Given the description of an element on the screen output the (x, y) to click on. 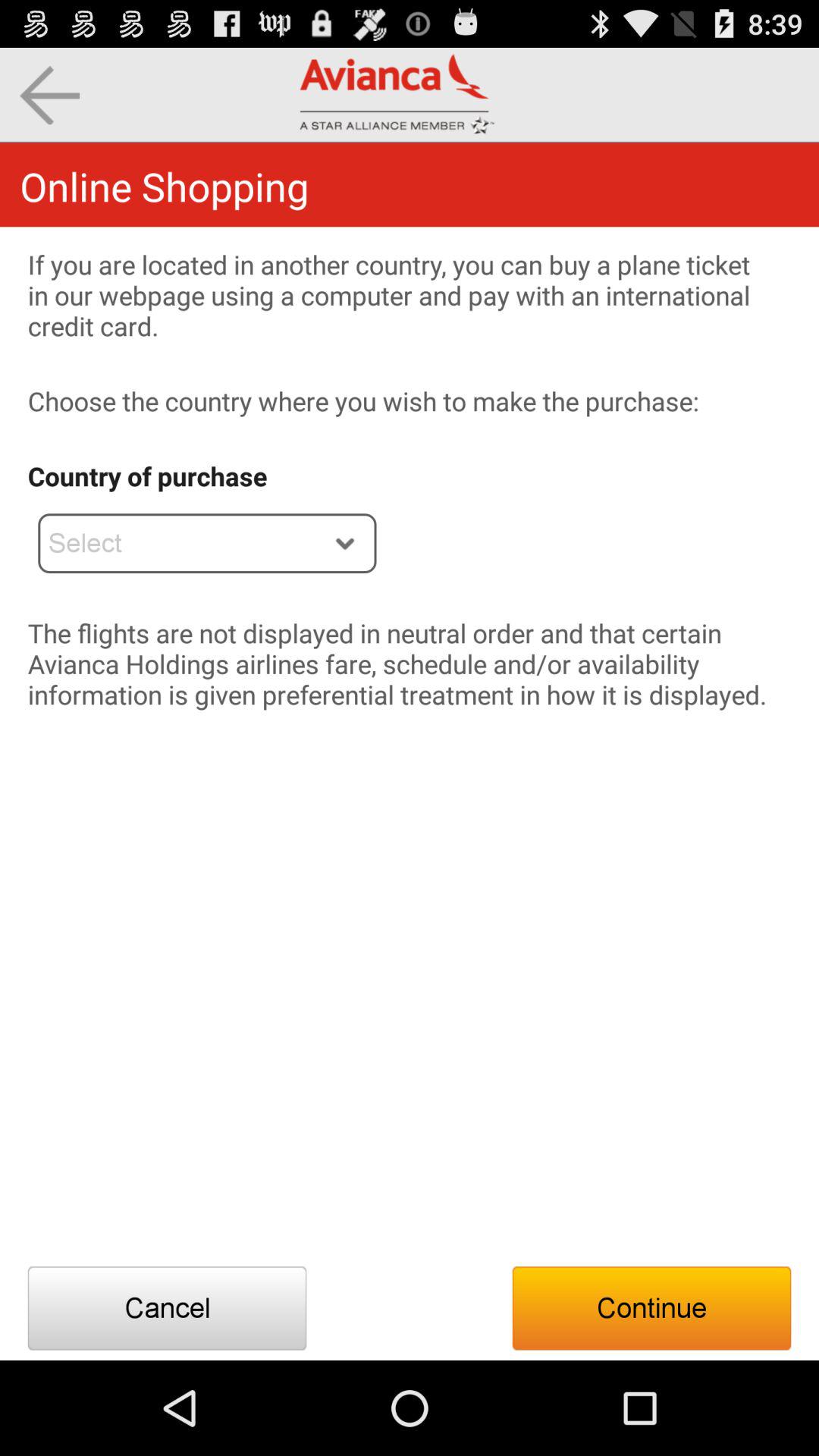
choose the button at the bottom right corner (651, 1308)
